Given the description of an element on the screen output the (x, y) to click on. 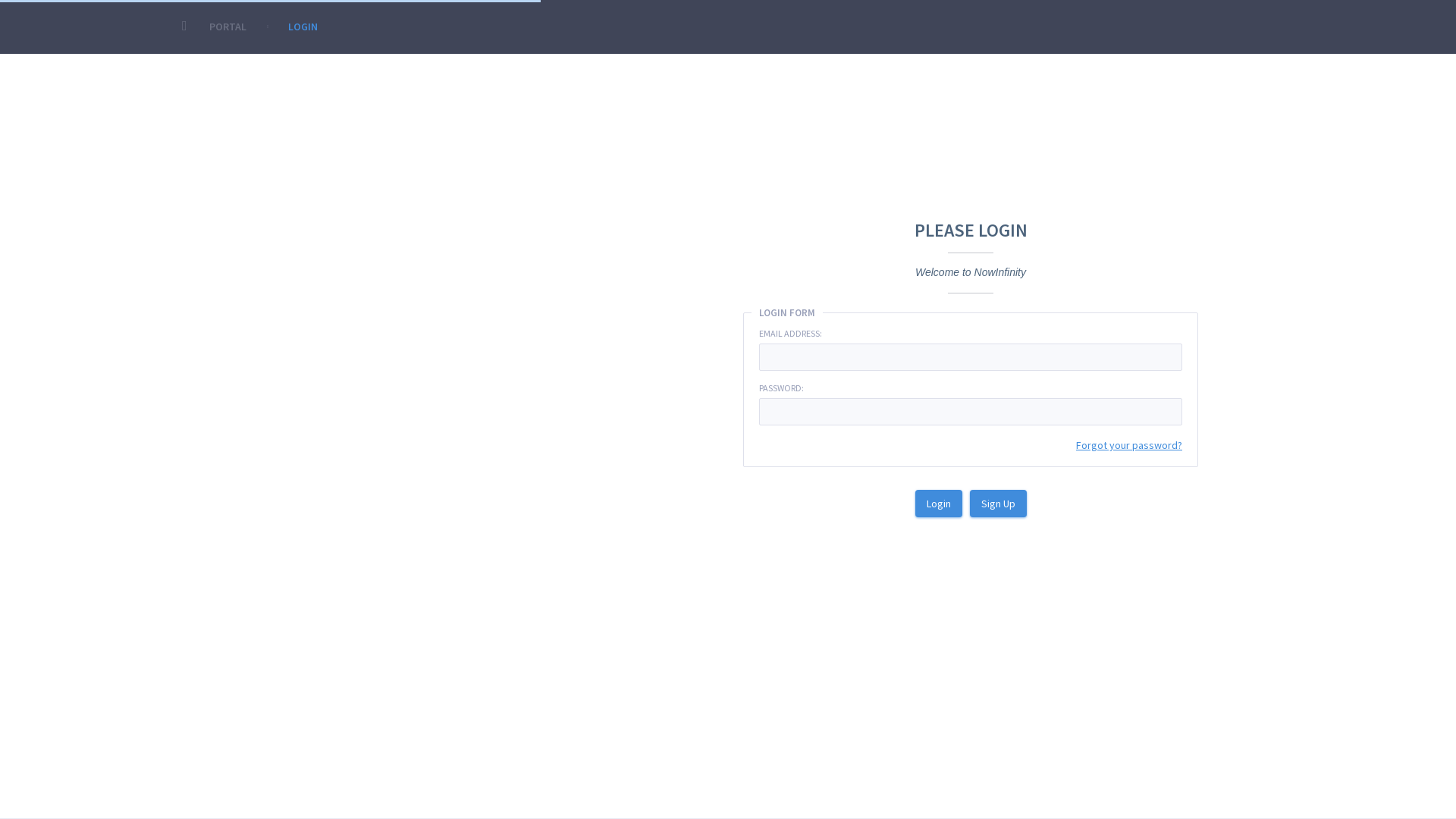
Forgot your password? Element type: text (1129, 444)
Login Element type: text (937, 503)
Sign Up Element type: text (997, 503)
